Given the description of an element on the screen output the (x, y) to click on. 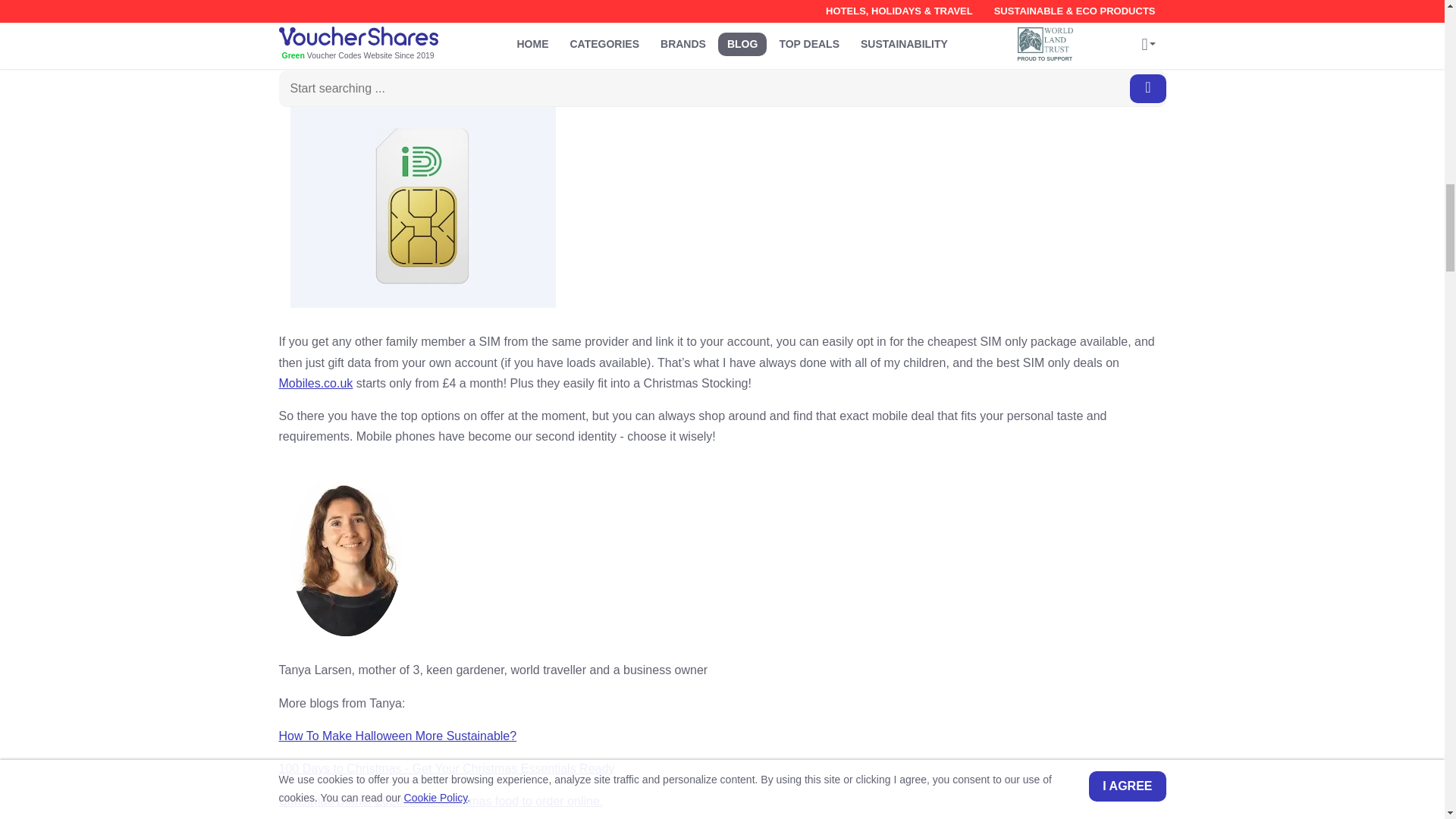
How To Make Halloween More Sustainable? (397, 735)
Mobiles.co.uk (316, 382)
100 Days to Christmas - Get Your Christmas Essentials Ready (446, 768)
Christmas Dinner 2020. Best Christmas food to order online. (441, 800)
SIM only Deal from Mobiles.co.uk (421, 199)
